Given the description of an element on the screen output the (x, y) to click on. 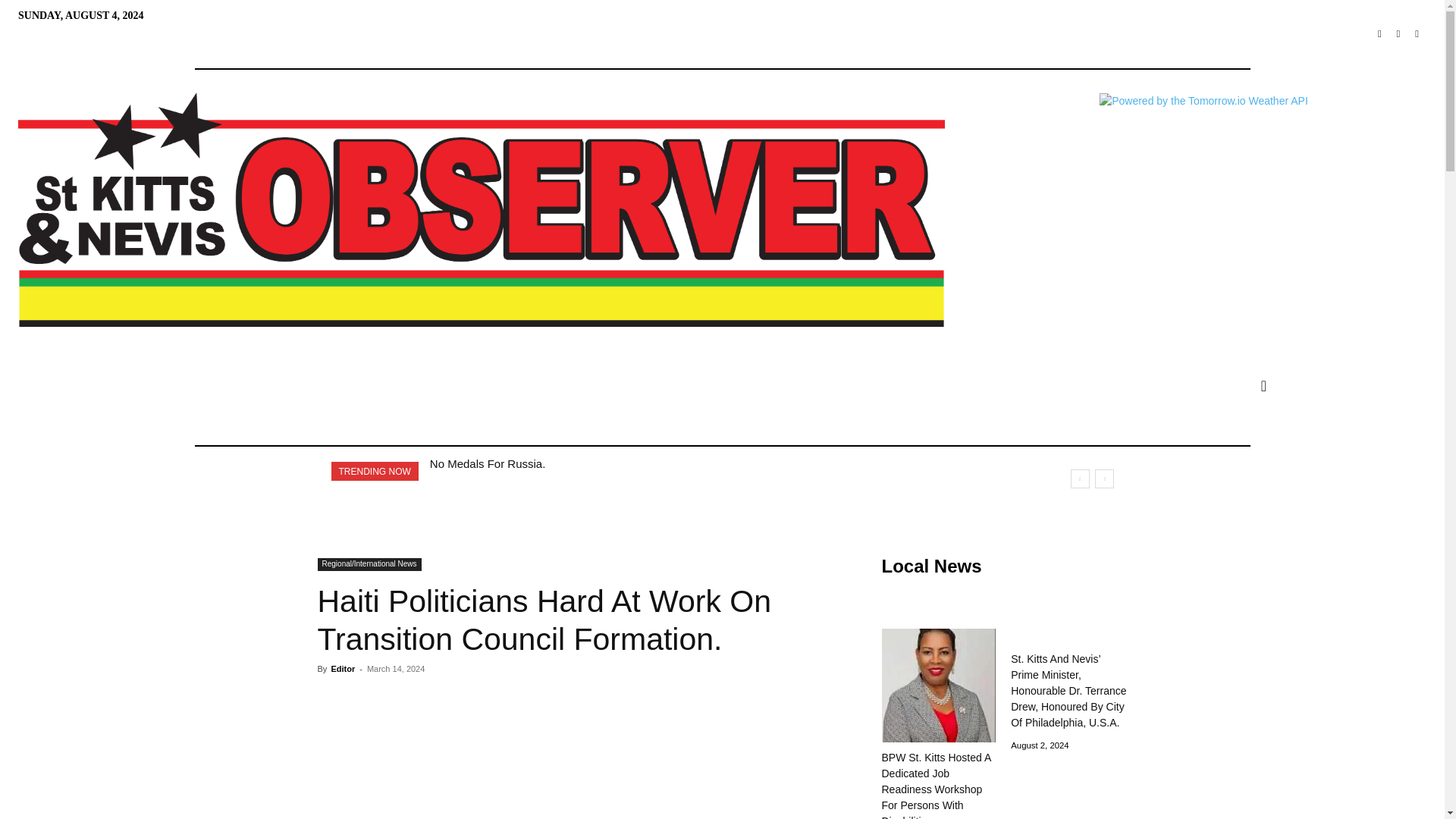
Twitter (1398, 34)
Youtube (1416, 34)
No Medals For Russia. (487, 463)
Facebook (1379, 34)
